Given the description of an element on the screen output the (x, y) to click on. 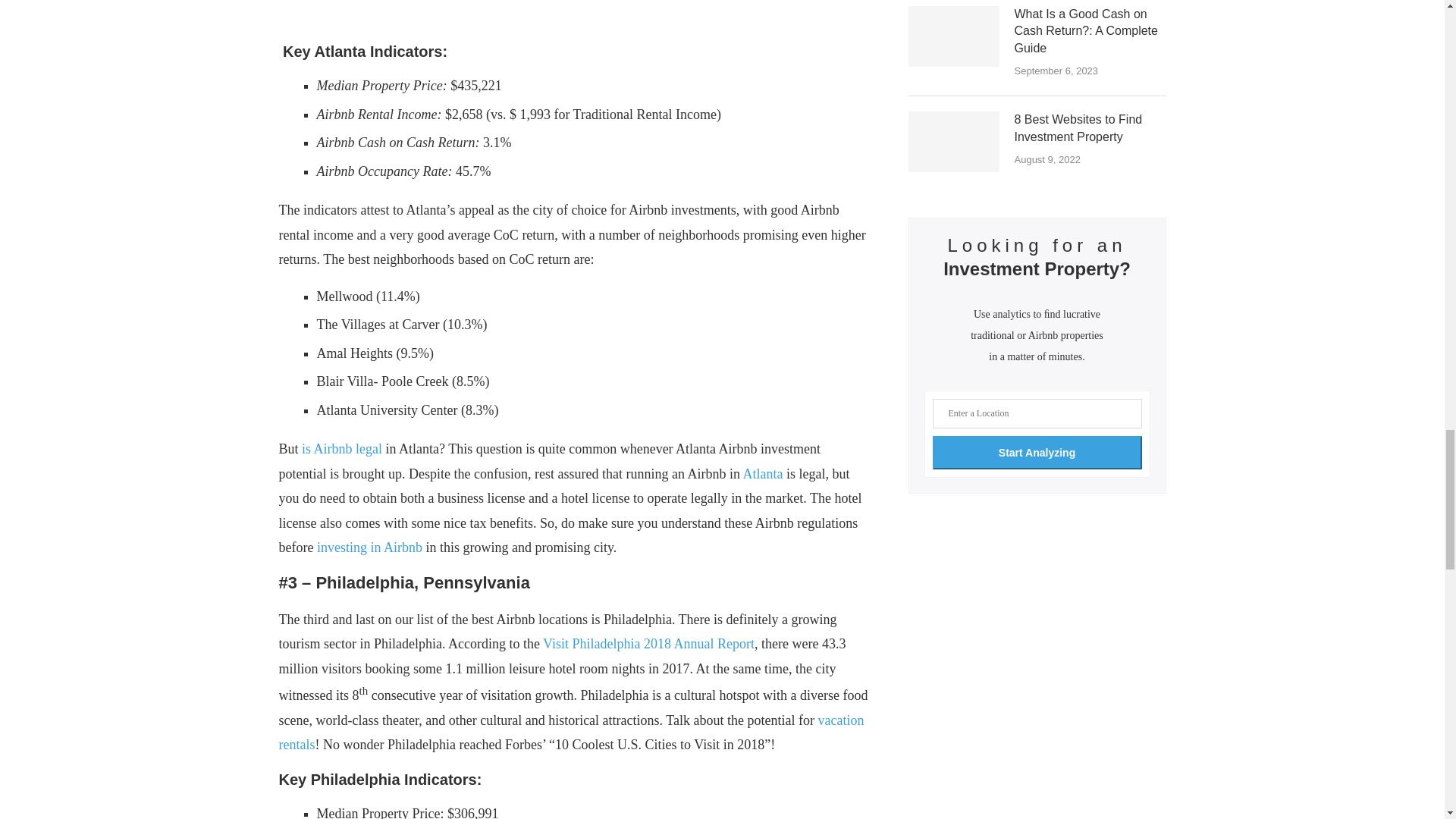
Visit Philadelphia 2018 Annual Report (648, 643)
Atlanta (762, 473)
vacation rentals (571, 732)
is Airbnb legal (341, 448)
investing in Airbnb (369, 547)
